Given the description of an element on the screen output the (x, y) to click on. 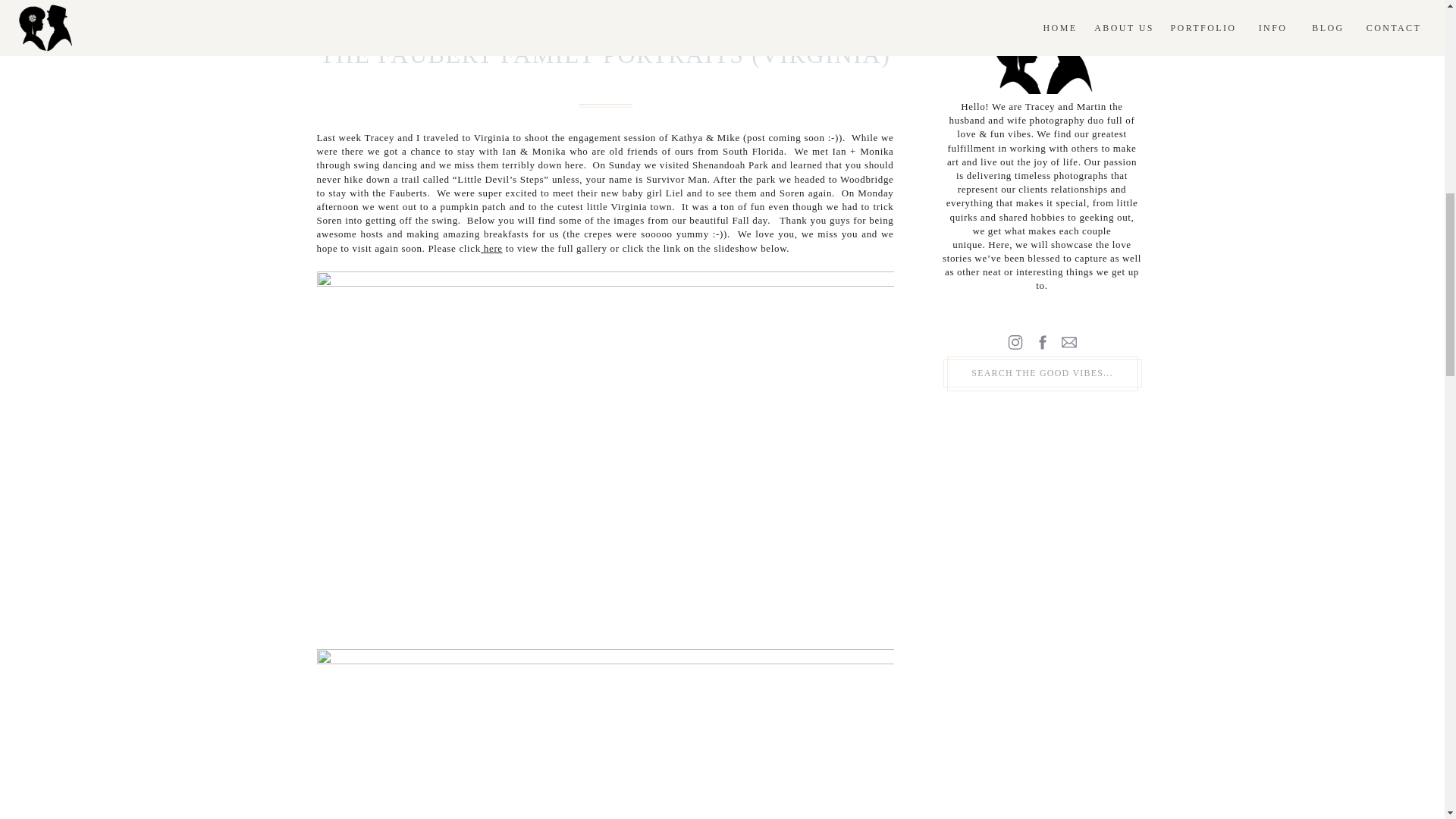
here (491, 247)
PORTRAITS (605, 28)
Faubert Virginia Portraits 2 (605, 734)
